Given the description of an element on the screen output the (x, y) to click on. 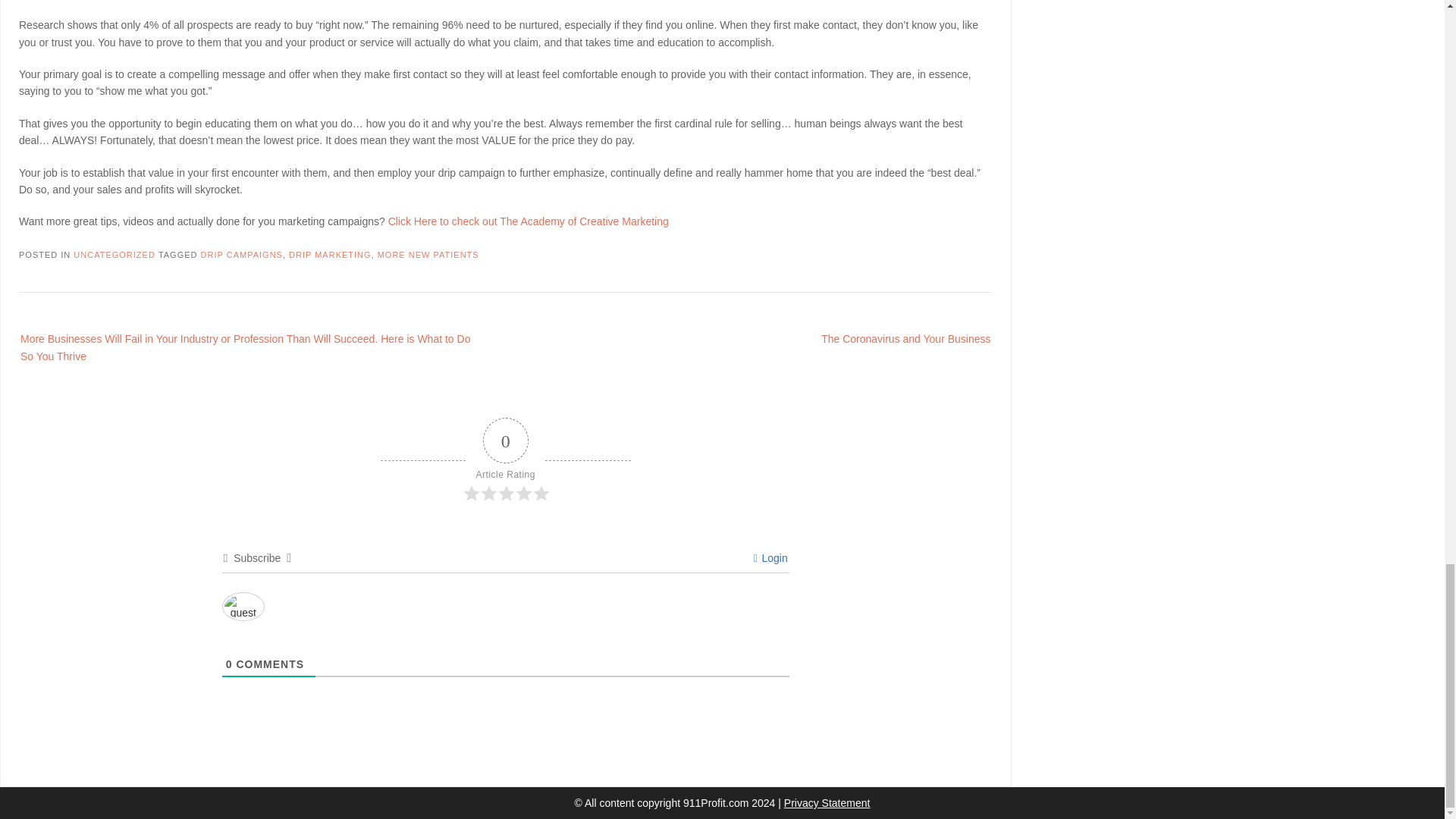
UNCATEGORIZED (114, 254)
The Coronavirus and Your Business (890, 336)
DRIP MARKETING (329, 254)
Click Here to check out The Academy of Creative Marketing (528, 221)
Login (769, 558)
MORE NEW PATIENTS (428, 254)
DRIP CAMPAIGNS (241, 254)
